Given the description of an element on the screen output the (x, y) to click on. 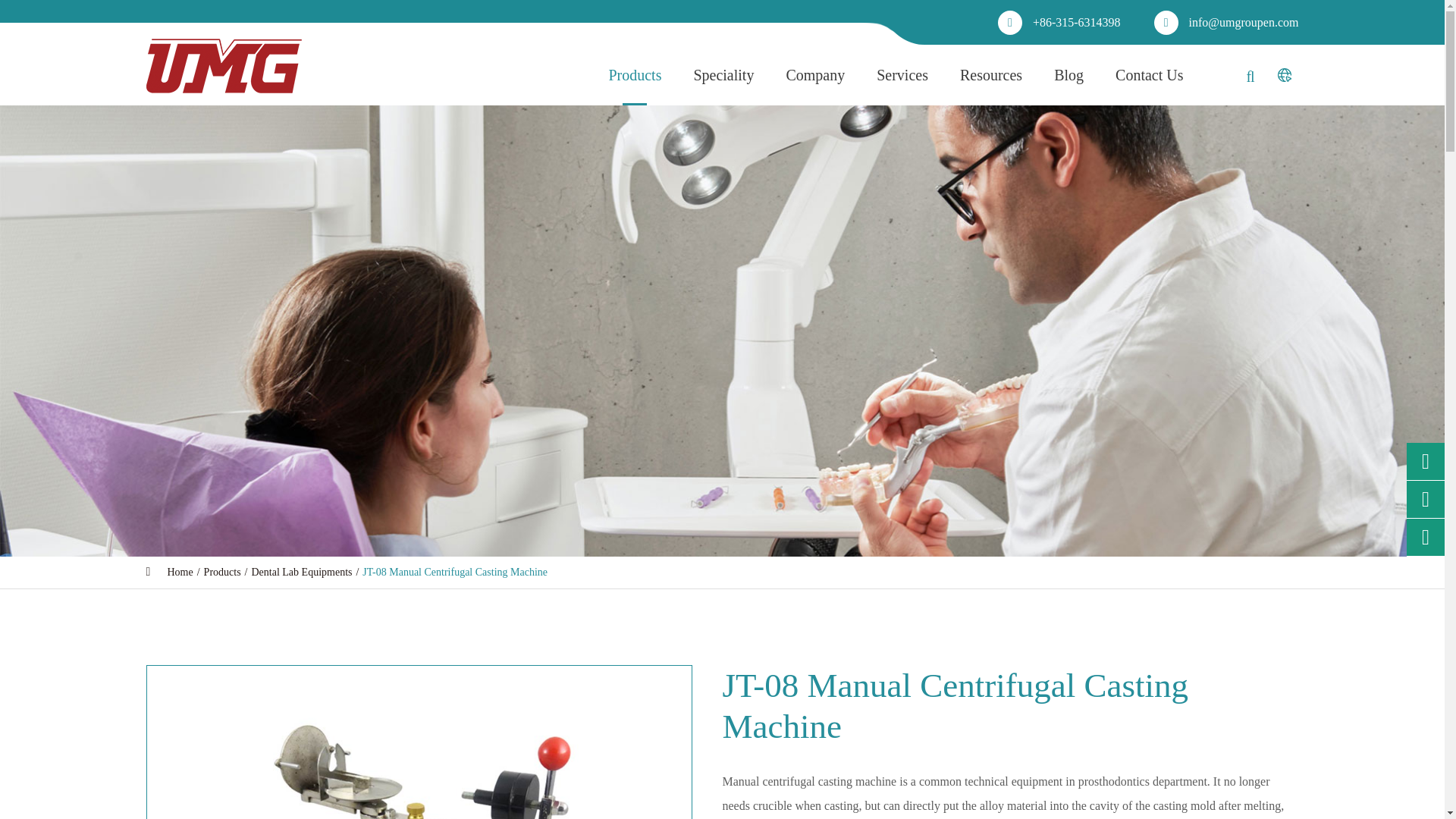
Tangshan UMG Medical Instrument Co.,Ltd. (223, 65)
Products (222, 572)
Country (1283, 74)
Tangshan UMG Medical Instrument Co.,Ltd. (725, 22)
